Given the description of an element on the screen output the (x, y) to click on. 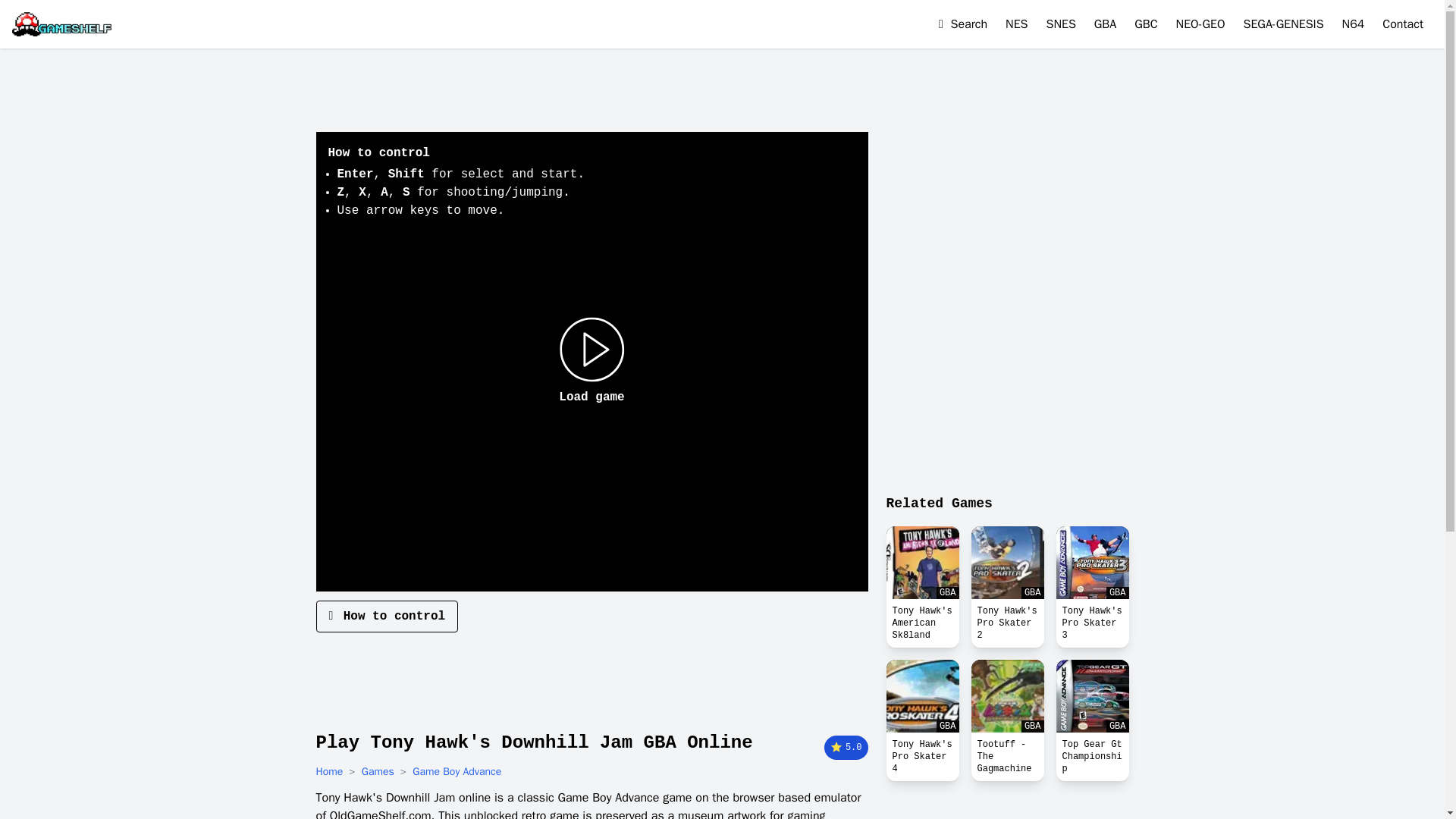
Home (328, 771)
Contact (1402, 24)
Neo Geo (1200, 23)
Home (328, 771)
Game Boy Advance (1105, 23)
Tony Hawk's American Sk8land (921, 622)
SNES (1060, 23)
GBA (921, 696)
Tony Hawk's Pro Skater 2 (1007, 562)
GBA (1091, 562)
